Given the description of an element on the screen output the (x, y) to click on. 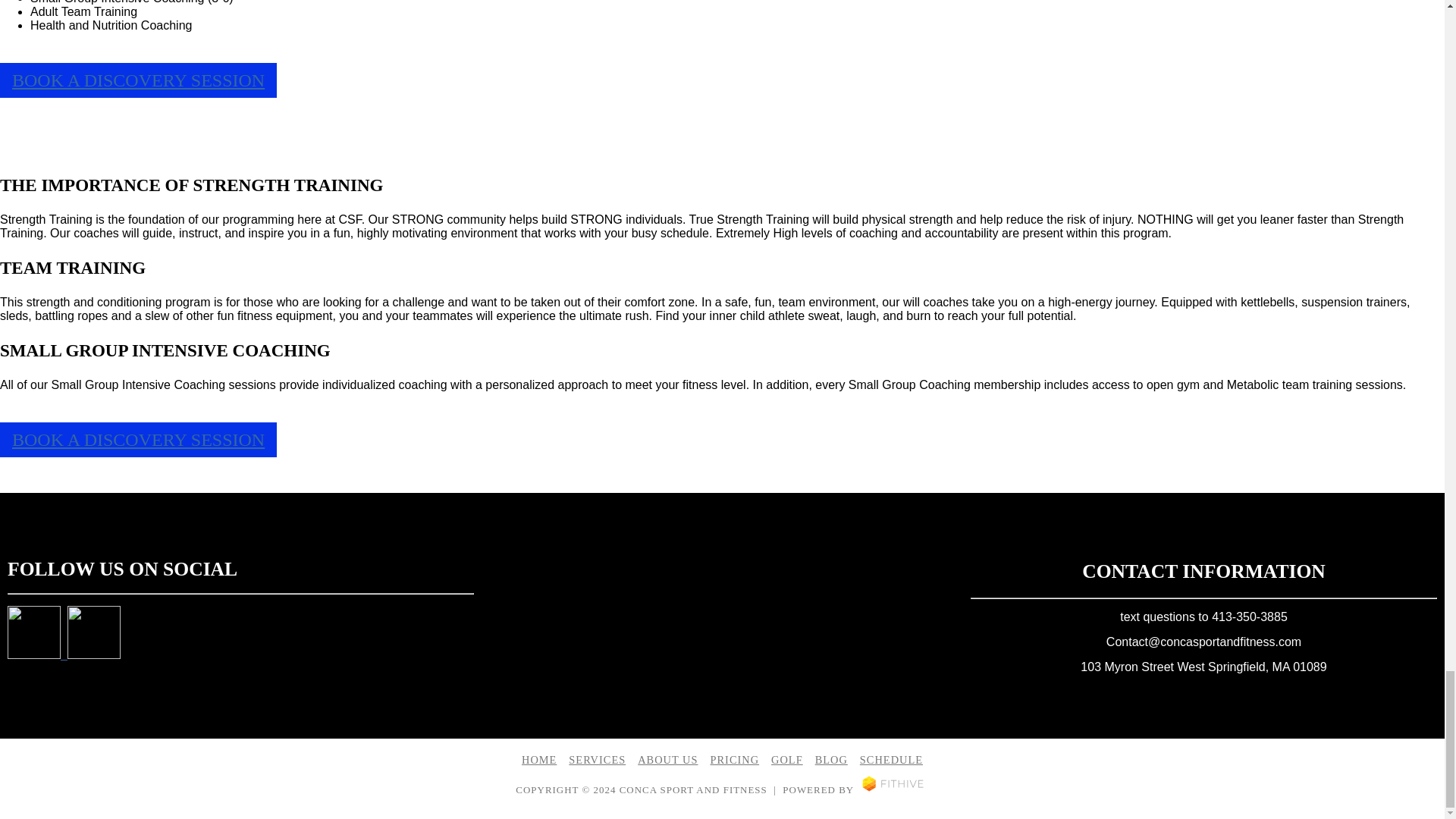
gym management software (892, 789)
ABOUT US (667, 759)
PRICING (734, 759)
SERVICES (597, 759)
HOME (538, 759)
BLOG (831, 759)
BOOK A DISCOVERY SESSION (138, 439)
BOOK A DISCOVERY SESSION (138, 80)
GOLF (787, 759)
